Given the description of an element on the screen output the (x, y) to click on. 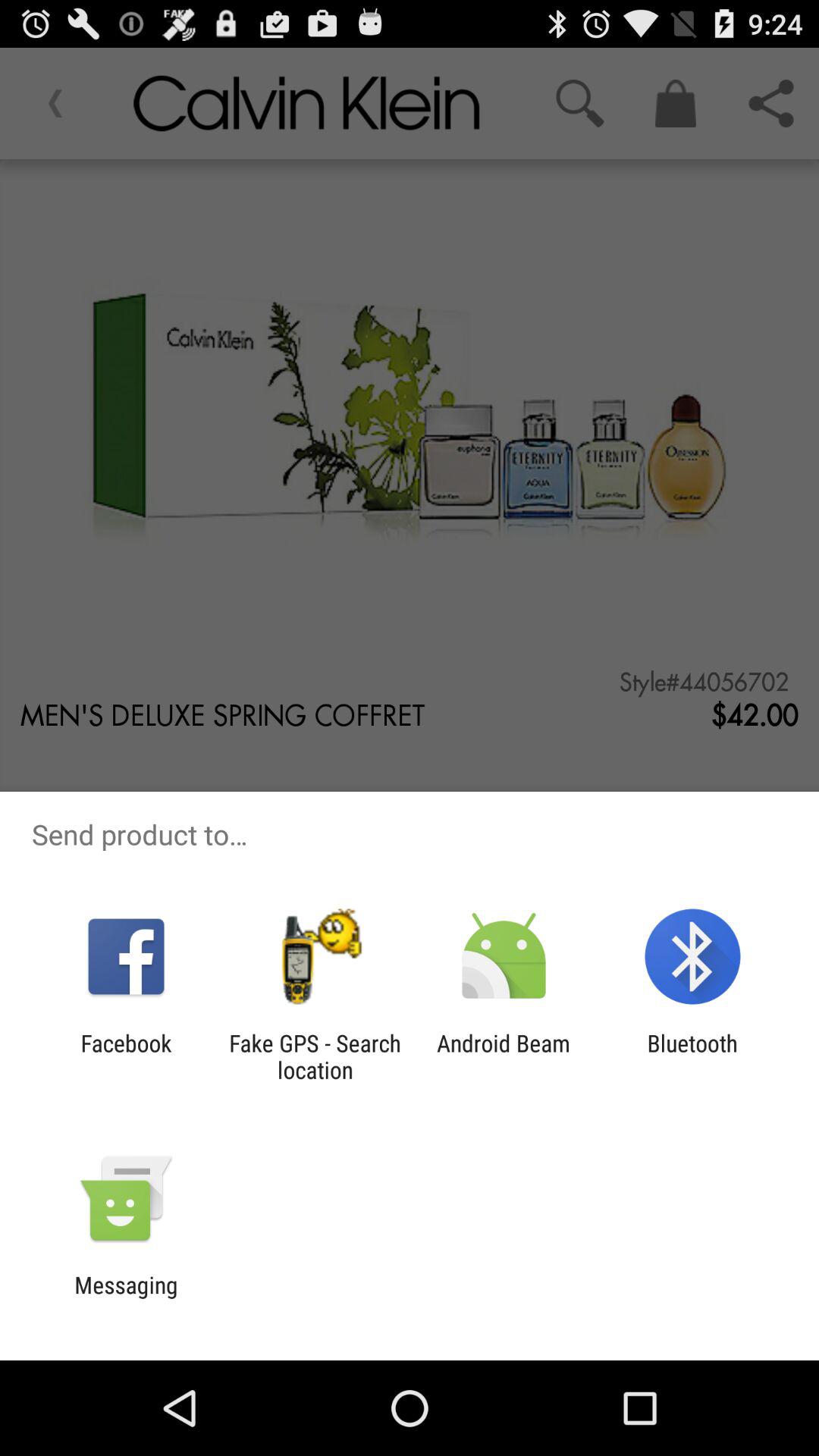
swipe until facebook (125, 1056)
